Given the description of an element on the screen output the (x, y) to click on. 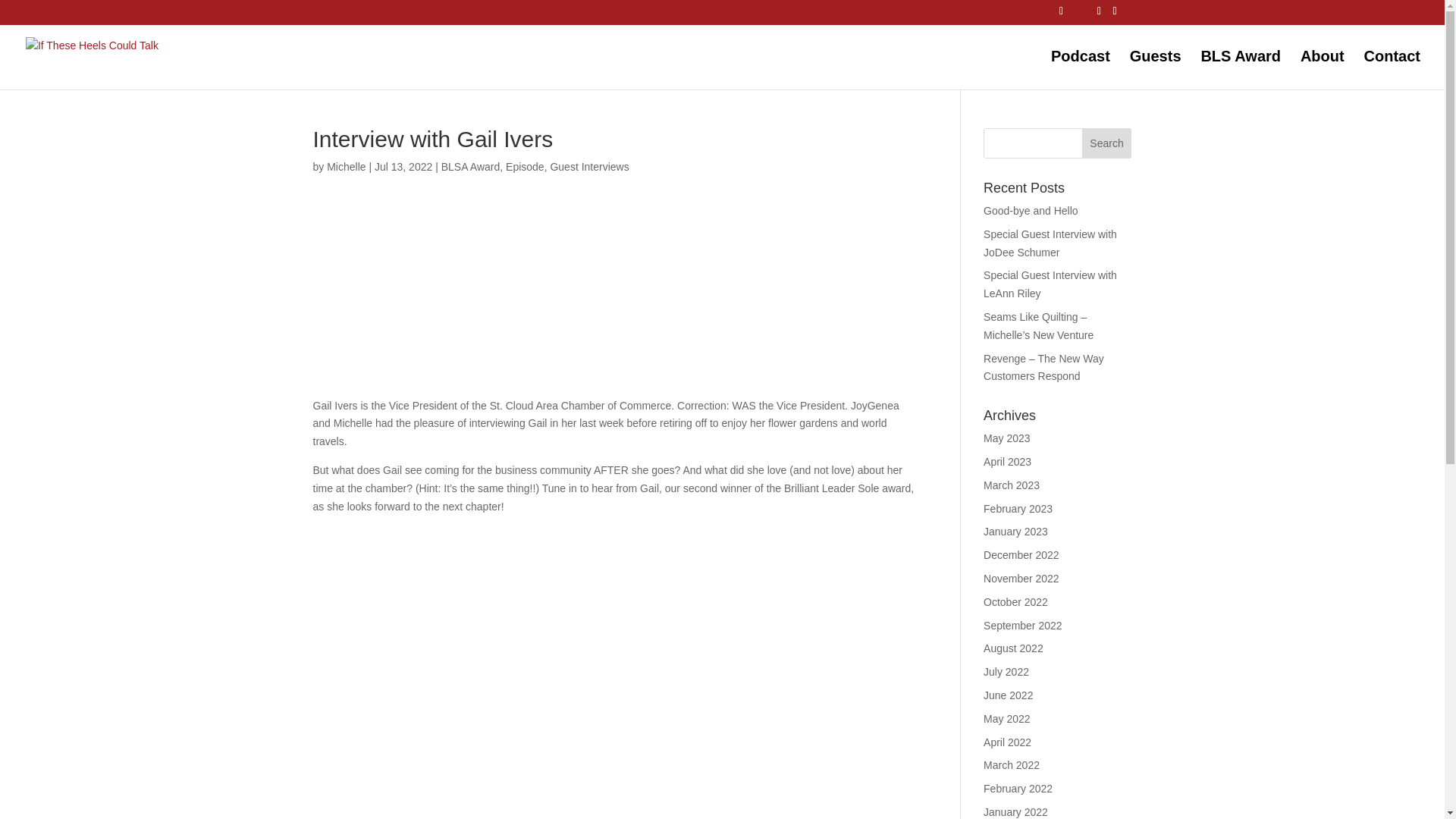
May 2022 (1006, 718)
Michelle (345, 166)
February 2022 (1018, 788)
Contact (1392, 69)
Posts by Michelle (345, 166)
January 2023 (1016, 531)
April 2022 (1007, 742)
About (1321, 69)
April 2023 (1007, 461)
March 2022 (1011, 765)
June 2022 (1008, 695)
March 2023 (1011, 485)
Episode (524, 166)
January 2022 (1016, 811)
Guest Interviews (589, 166)
